Given the description of an element on the screen output the (x, y) to click on. 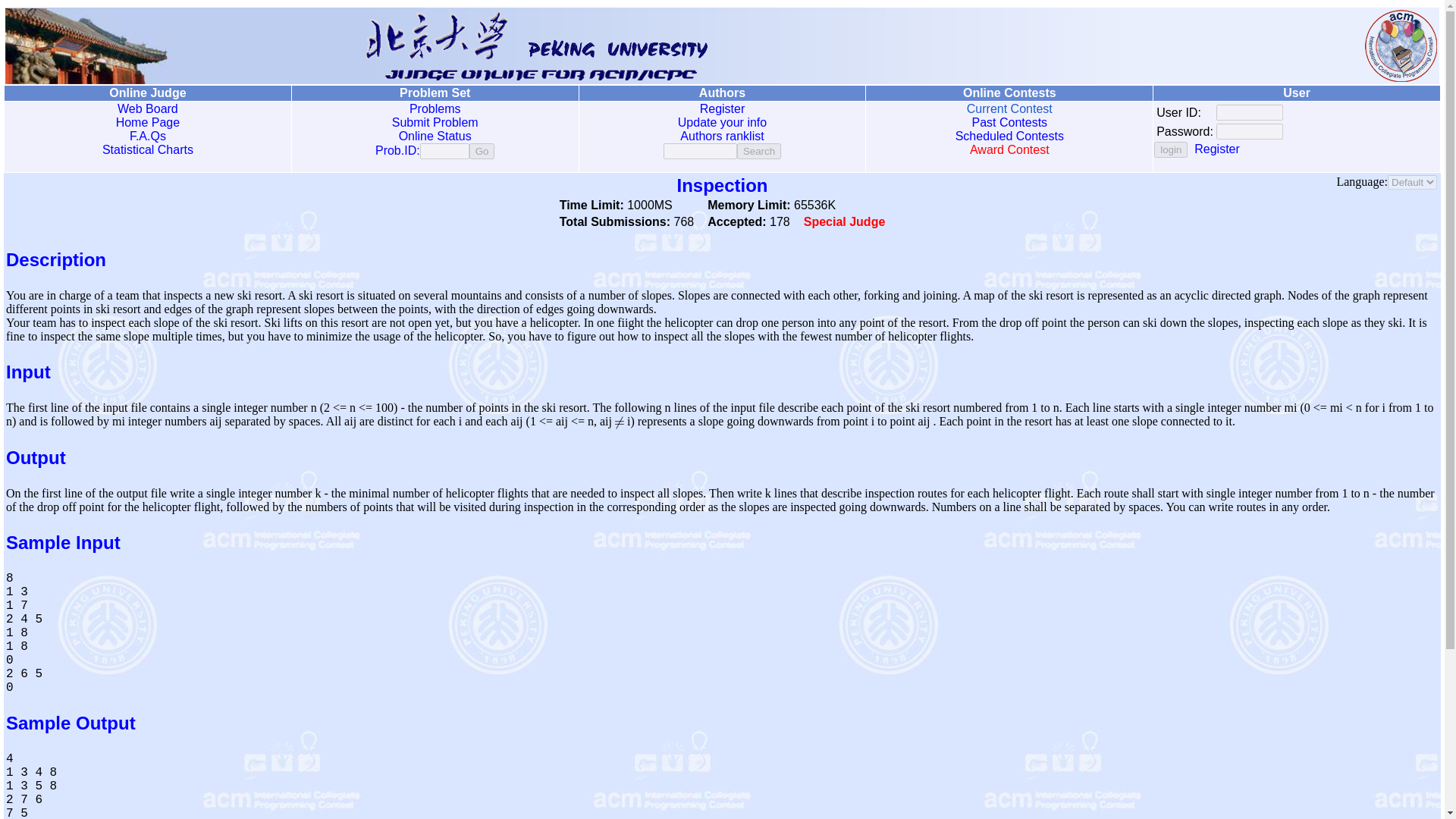
F.A.Qs (147, 135)
Update your info (722, 122)
Authors ranklist (720, 135)
Scheduled Contests (1009, 135)
Web Board (147, 108)
Problems (435, 108)
Statistical Charts (147, 149)
Past Contests (1008, 122)
Search (758, 150)
Award Contest (1009, 149)
